Given the description of an element on the screen output the (x, y) to click on. 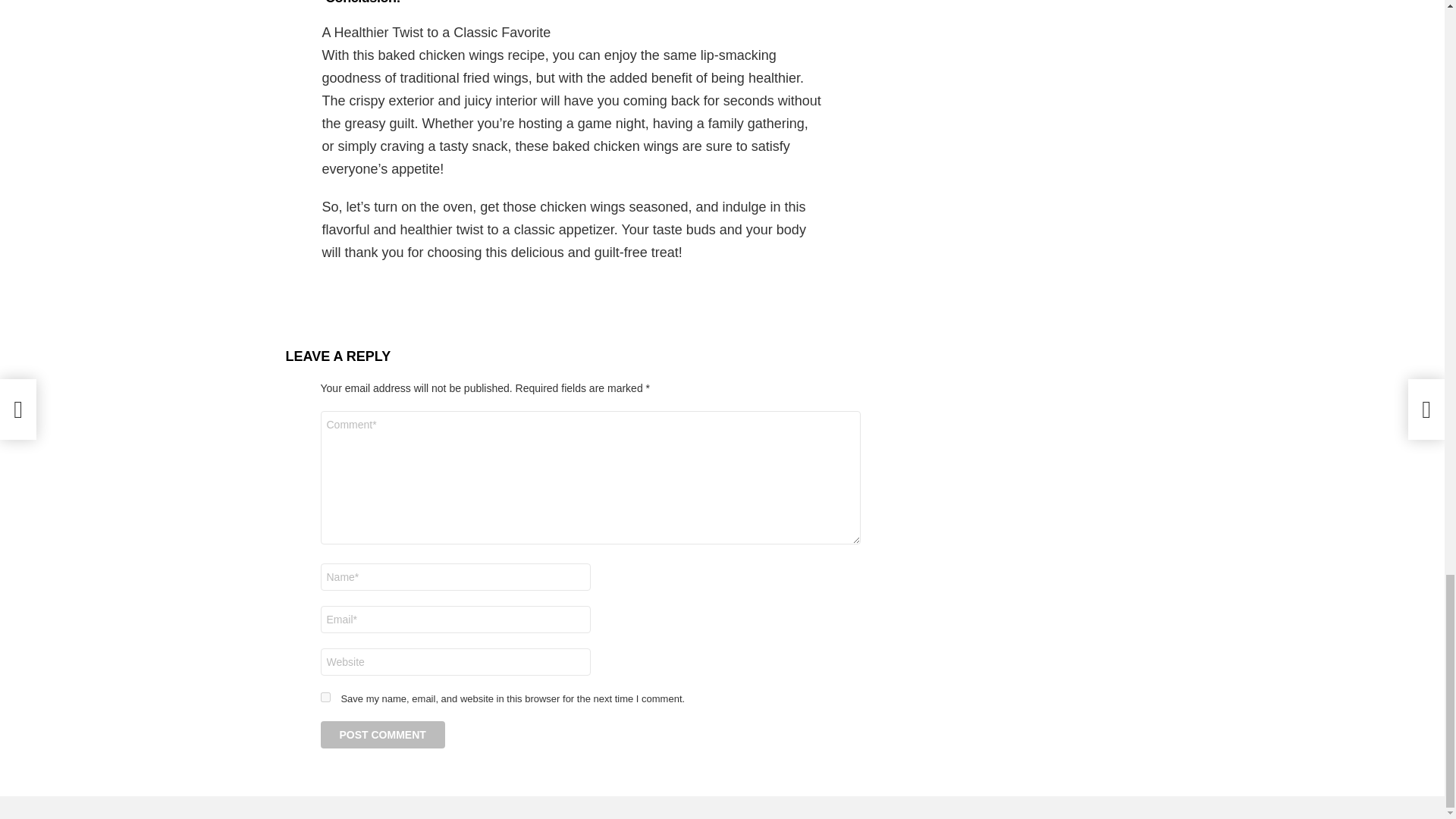
Post Comment (382, 734)
Post Comment (382, 734)
yes (325, 696)
